Given the description of an element on the screen output the (x, y) to click on. 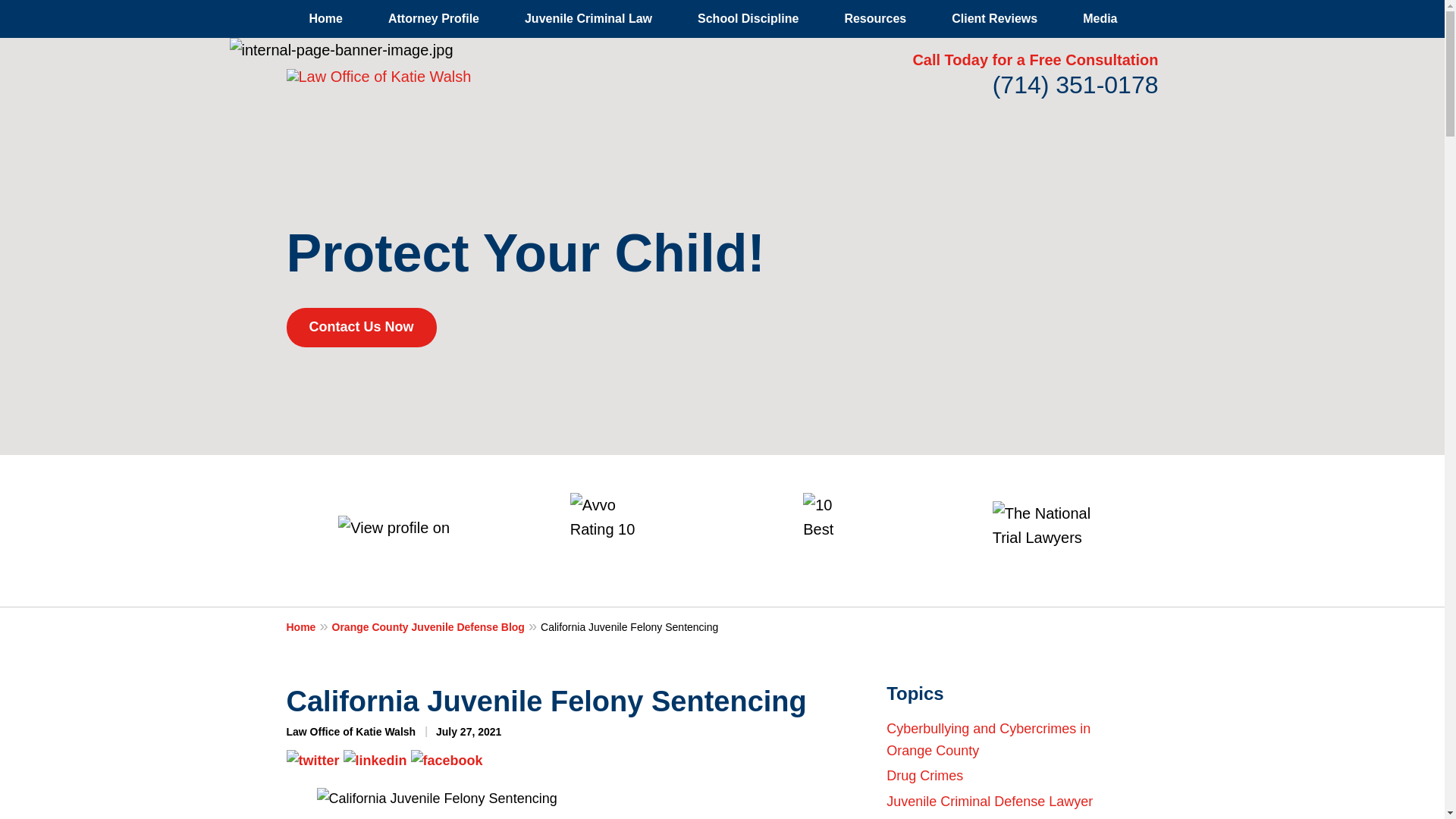
Call Today for a Free Consultation (1034, 59)
School Discipline (748, 18)
Blog (1176, 18)
Cyberbullying and Cybercrimes in Orange County (988, 739)
Client Reviews (993, 18)
Tweet (312, 759)
Home (325, 18)
Media (1099, 18)
Home (308, 627)
Juvenile Criminal Law (588, 18)
